Given the description of an element on the screen output the (x, y) to click on. 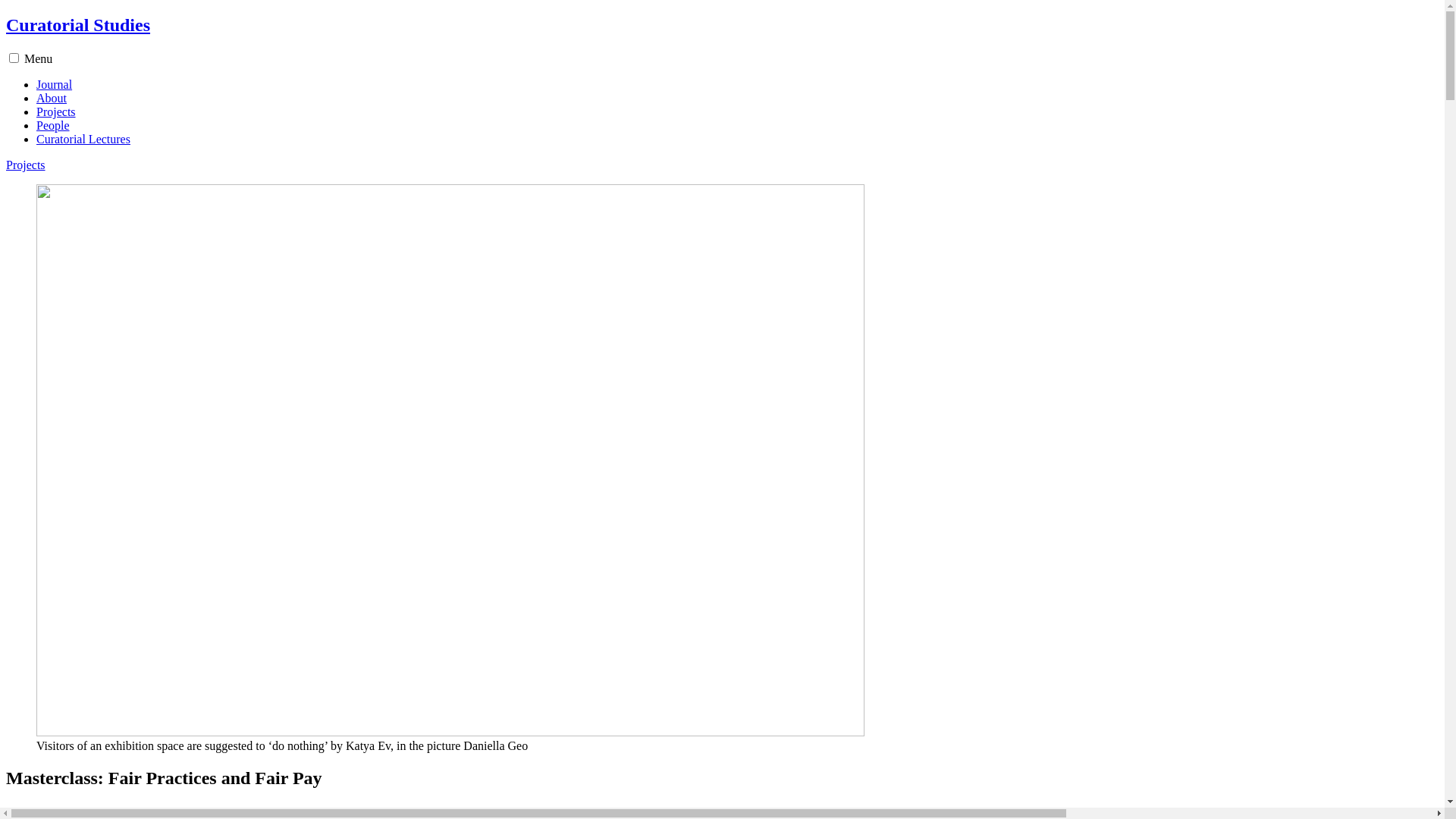
Curatorial Studies Element type: text (78, 24)
People Element type: text (52, 125)
About Element type: text (51, 97)
Projects Element type: text (55, 111)
Curatorial Lectures Element type: text (83, 138)
Projects Element type: text (25, 164)
Journal Element type: text (54, 84)
